Given the description of an element on the screen output the (x, y) to click on. 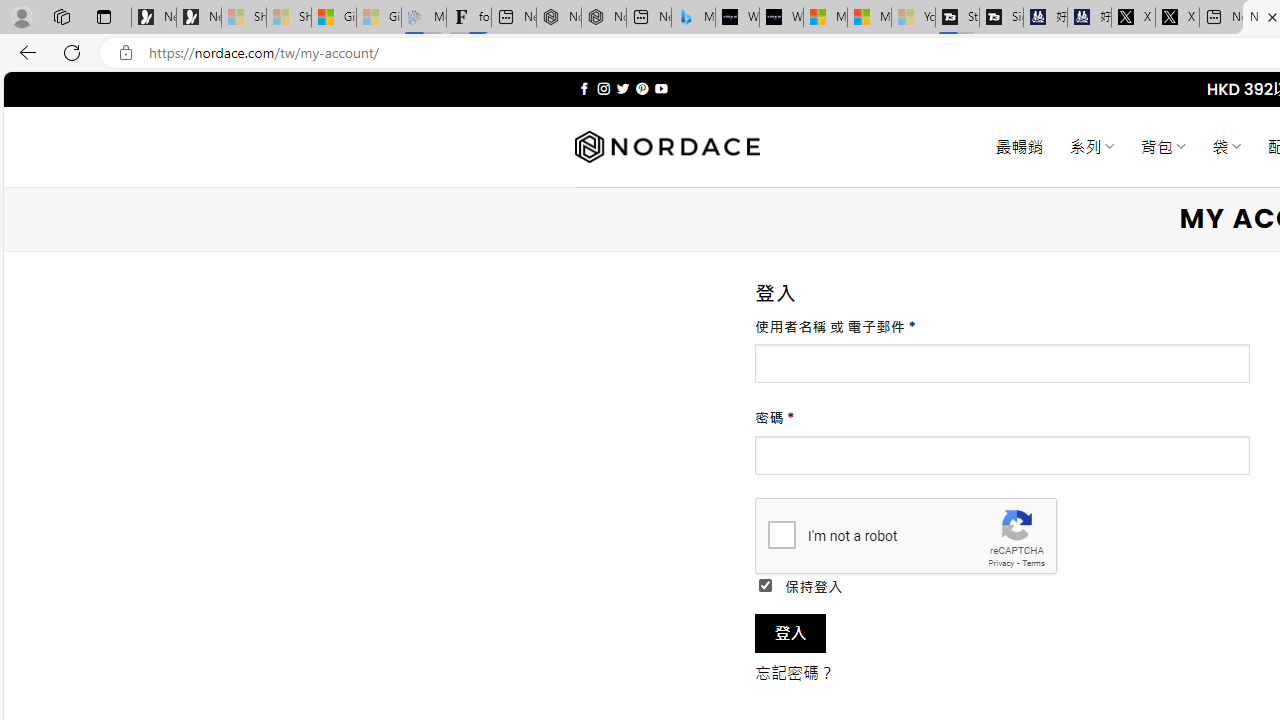
Follow on Instagram (603, 88)
Workspaces (61, 16)
Streaming Coverage | T3 (957, 17)
Tab actions menu (104, 16)
Follow on Twitter (621, 88)
Follow on Facebook (584, 88)
